Given the description of an element on the screen output the (x, y) to click on. 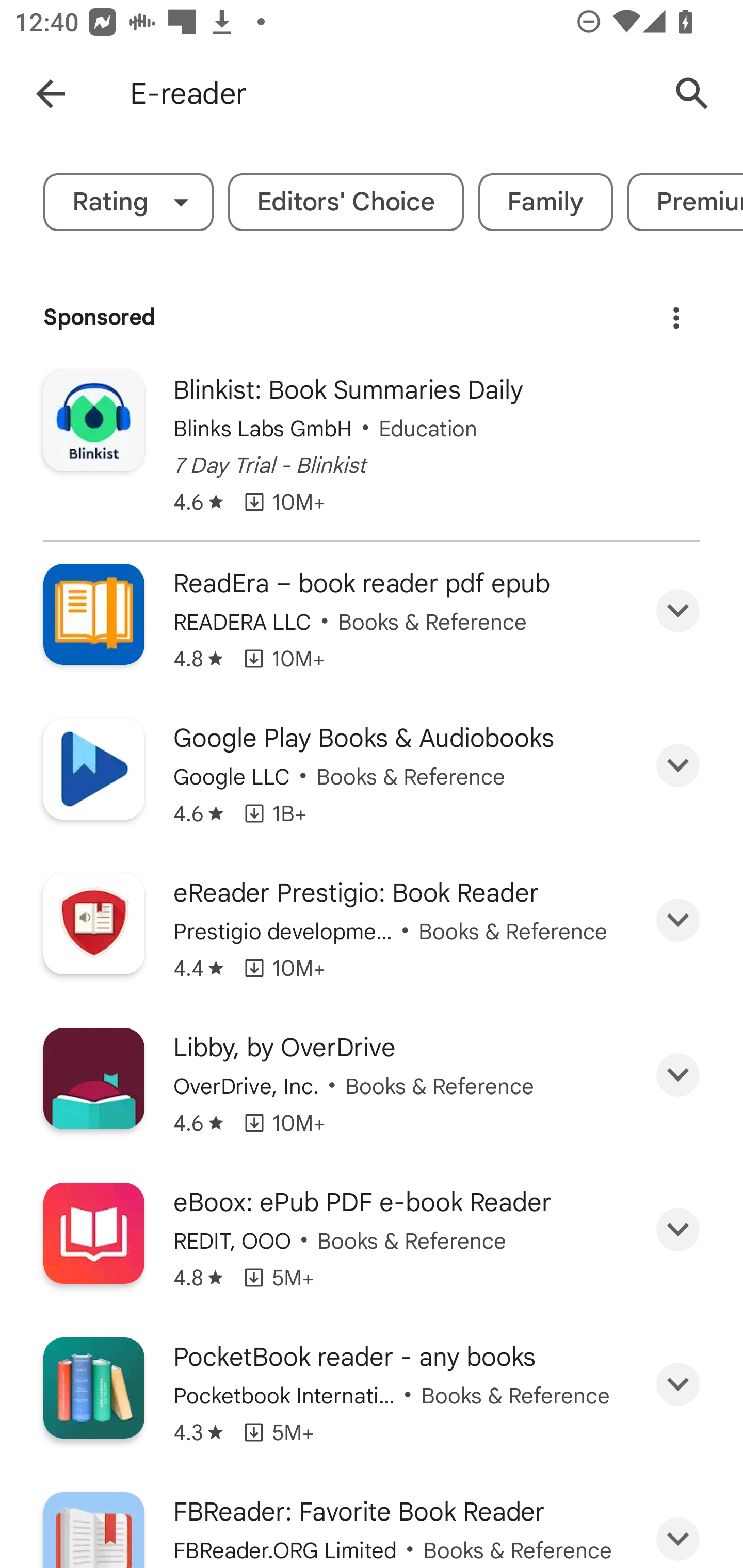
E-reader (389, 93)
Navigate up (50, 93)
Search Google Play (692, 93)
Rating - double tap to change the filter (128, 202)
Editors' Choice - double tap to toggle the filter (345, 202)
Family - double tap to toggle the filter (545, 202)
Premium - double tap to toggle the filter (685, 202)
About this ad (676, 311)
Expand content for ReadEra – book reader pdf epub (677, 610)
Expand content for Google Play Books & Audiobooks (677, 765)
Expand content for eReader Prestigio: Book Reader (677, 919)
Expand content for Libby, by OverDrive (677, 1074)
Expand content for eBoox: ePub PDF e-book Reader (677, 1229)
Expand content for PocketBook reader - any books (677, 1384)
Expand content for FBReader: Favorite Book Reader (677, 1531)
